Given the description of an element on the screen output the (x, y) to click on. 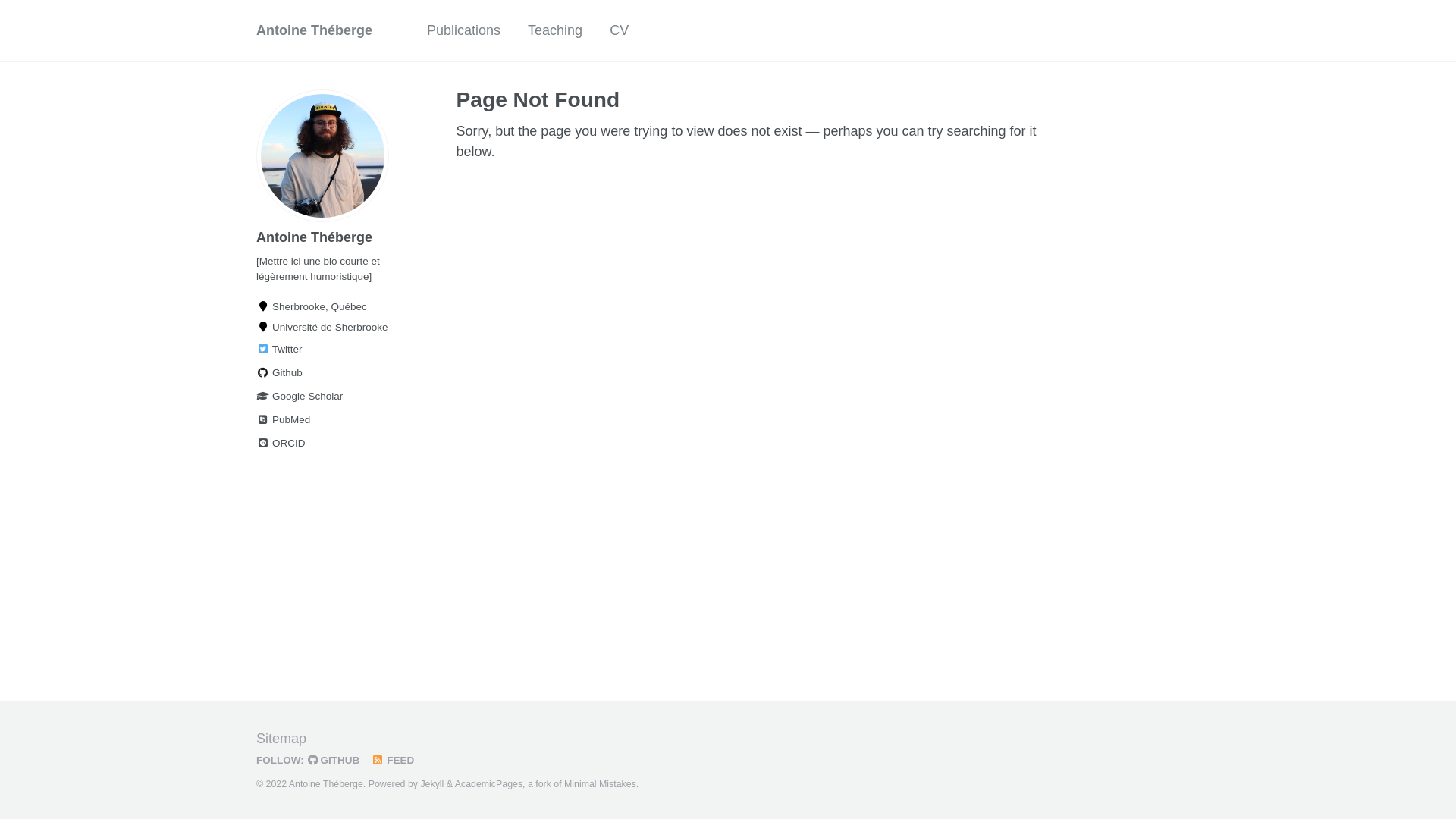
Teaching Element type: text (554, 30)
AcademicPages Element type: text (488, 783)
ORCID Element type: text (328, 443)
FEED Element type: text (395, 759)
Google Scholar Element type: text (328, 396)
Minimal Mistakes Element type: text (600, 783)
GITHUB Element type: text (337, 759)
PubMed Element type: text (328, 420)
Github Element type: text (328, 373)
Sitemap Element type: text (281, 738)
Jekyll Element type: text (431, 783)
CV Element type: text (618, 30)
Publications Element type: text (463, 30)
Twitter Element type: text (328, 349)
